Given the description of an element on the screen output the (x, y) to click on. 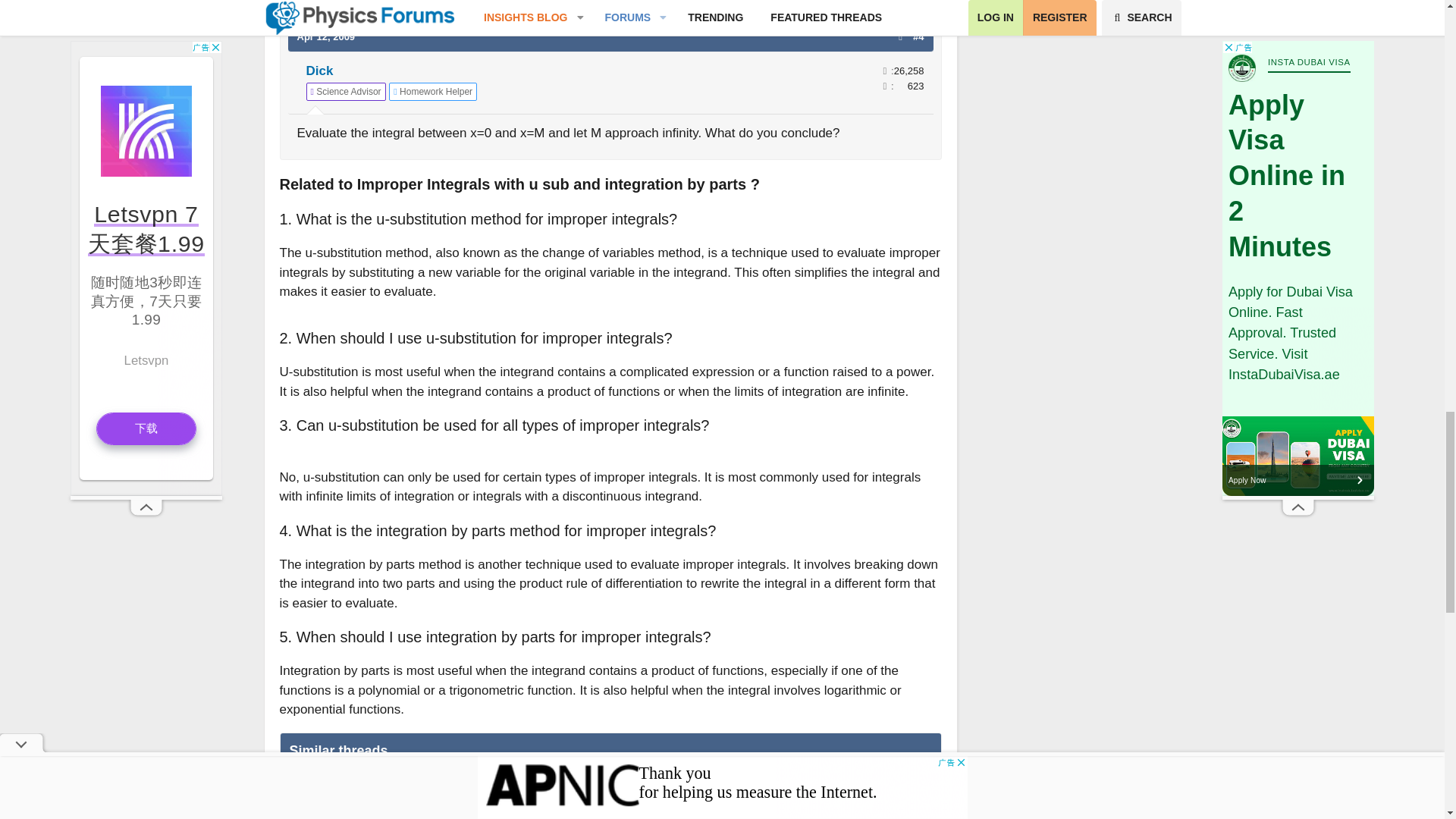
First message reaction score: 0 (904, 791)
First message reaction score: 0 (904, 816)
Apr 12, 2009 at 8:25 PM (326, 35)
Jun 27, 2023 at 11:49 AM (316, 800)
